Given the description of an element on the screen output the (x, y) to click on. 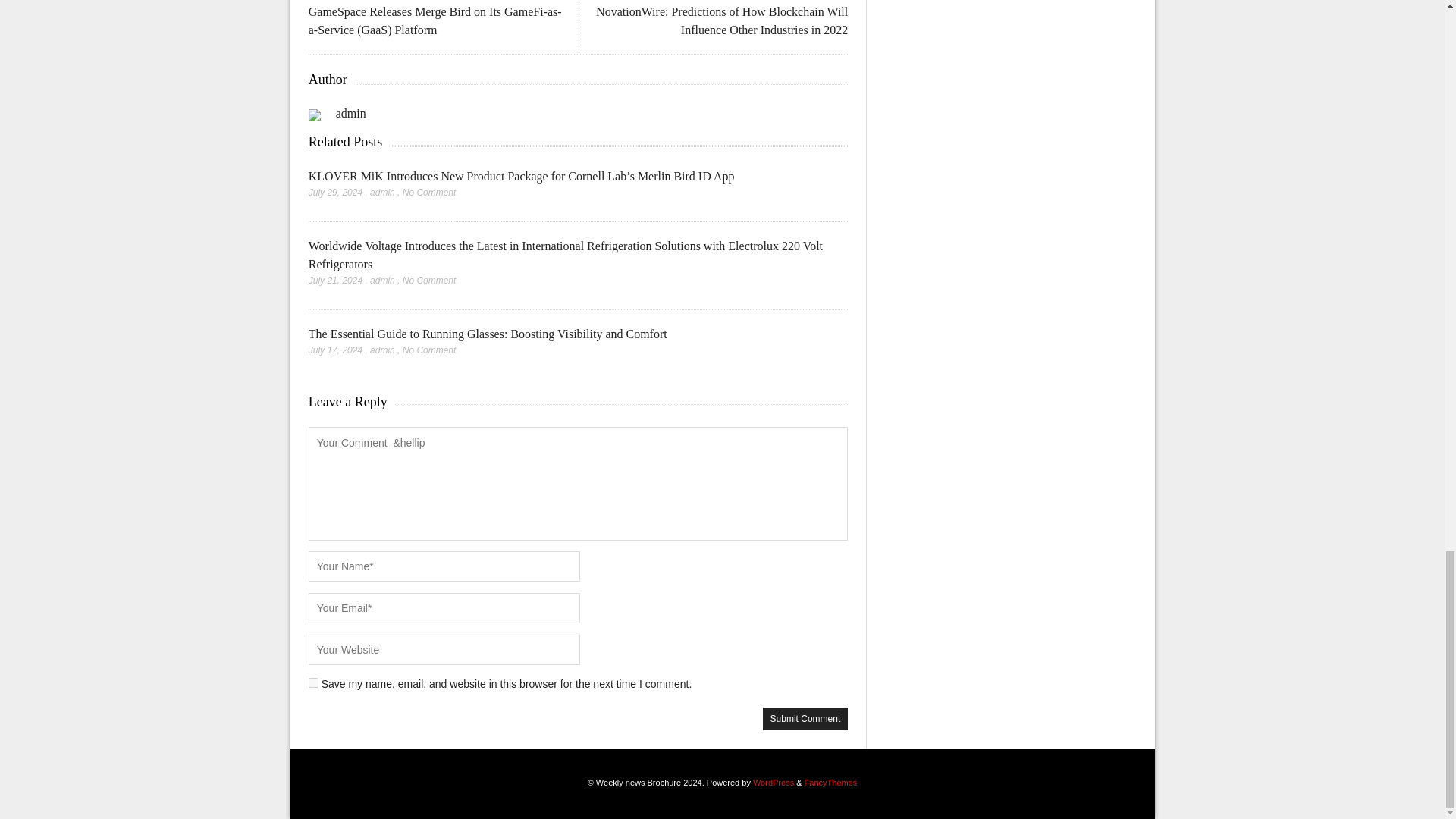
admin (351, 113)
FancyThemes (831, 782)
yes (313, 682)
Posts by admin (351, 113)
Posts by admin (381, 349)
FancyThemes (831, 782)
Submit Comment (805, 718)
No Comment (430, 192)
No Comment (430, 349)
